Given the description of an element on the screen output the (x, y) to click on. 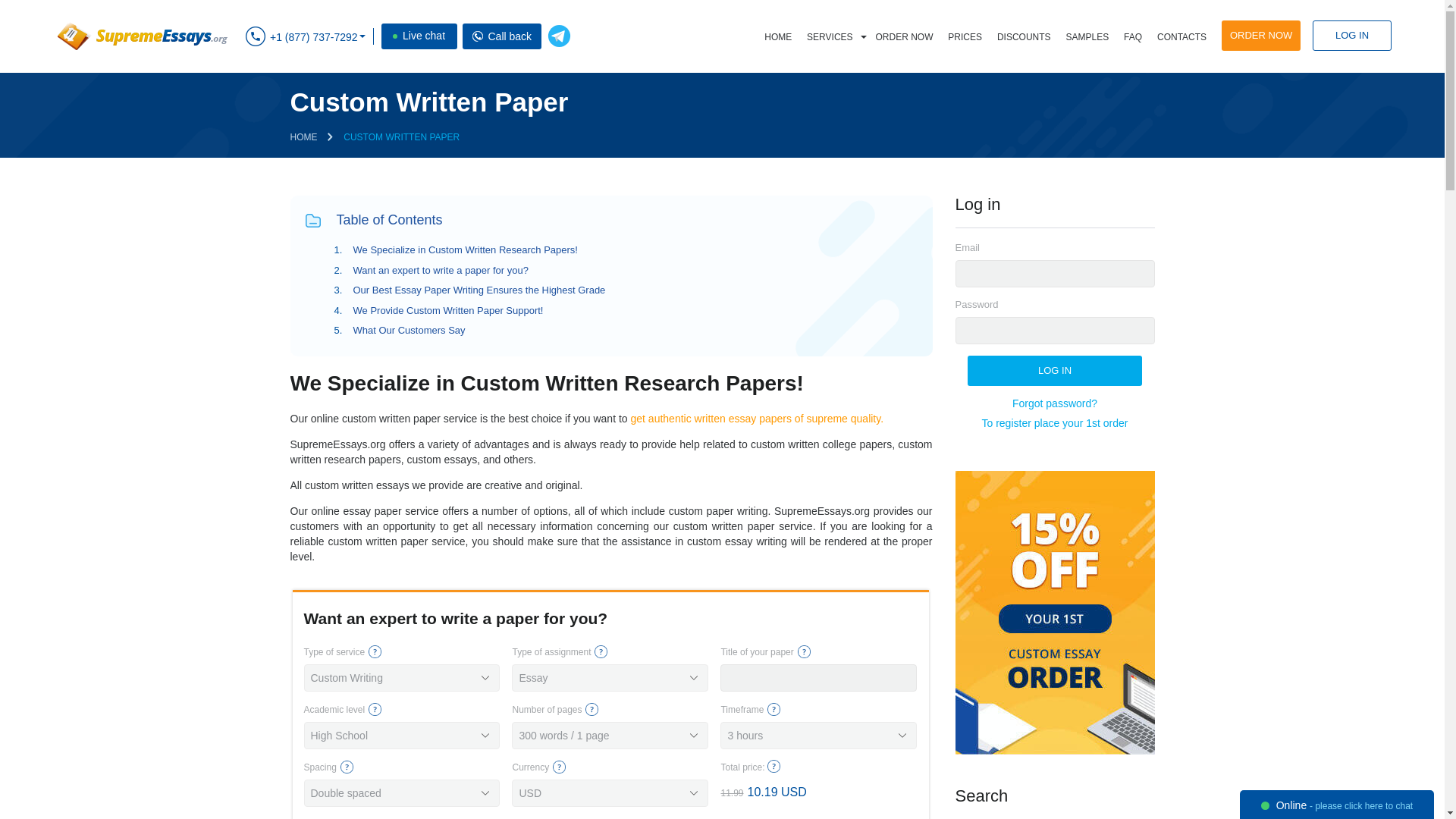
FAQ (1133, 36)
What Our Customers Say (409, 329)
PRICES (965, 36)
We Provide Custom Written Paper Support! (448, 310)
HOME (777, 36)
SAMPLES (1087, 36)
We Specialize in Custom Written Research Papers! (465, 249)
Supremeessays.org (143, 36)
DISCOUNTS (1024, 36)
HOME (303, 136)
